Given the description of an element on the screen output the (x, y) to click on. 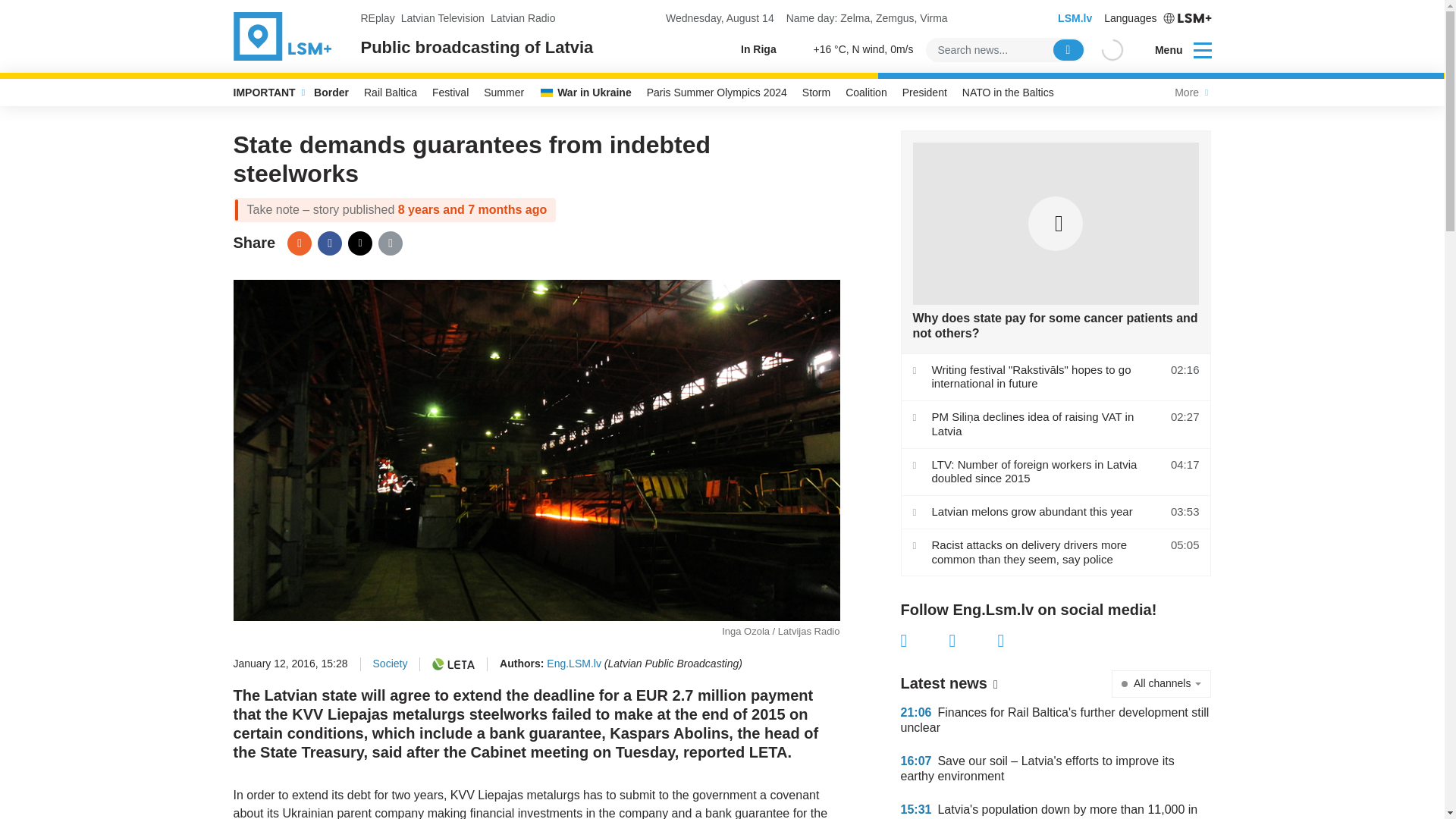
REplay (377, 18)
Latvian Radio (523, 18)
Latvian Television (442, 18)
Rail Baltica (390, 92)
X (359, 242)
NATO in the Baltics (1008, 92)
President (925, 92)
Border (330, 92)
Languages (1157, 18)
More (1189, 92)
